Given the description of an element on the screen output the (x, y) to click on. 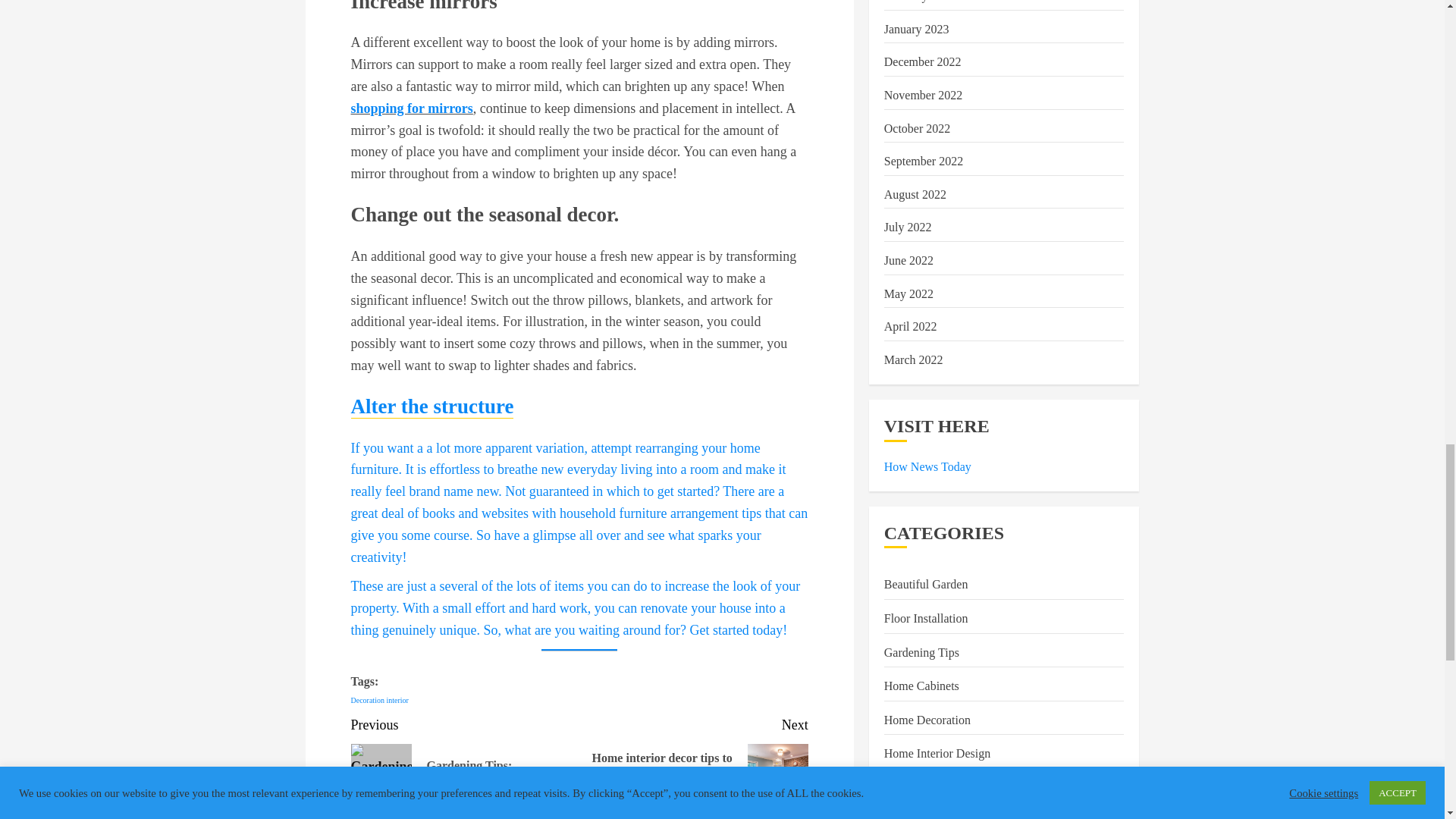
Decoration (367, 700)
shopping for mirrors (410, 108)
Tags: (579, 688)
Alter the structure (431, 406)
interior (396, 700)
